Given the description of an element on the screen output the (x, y) to click on. 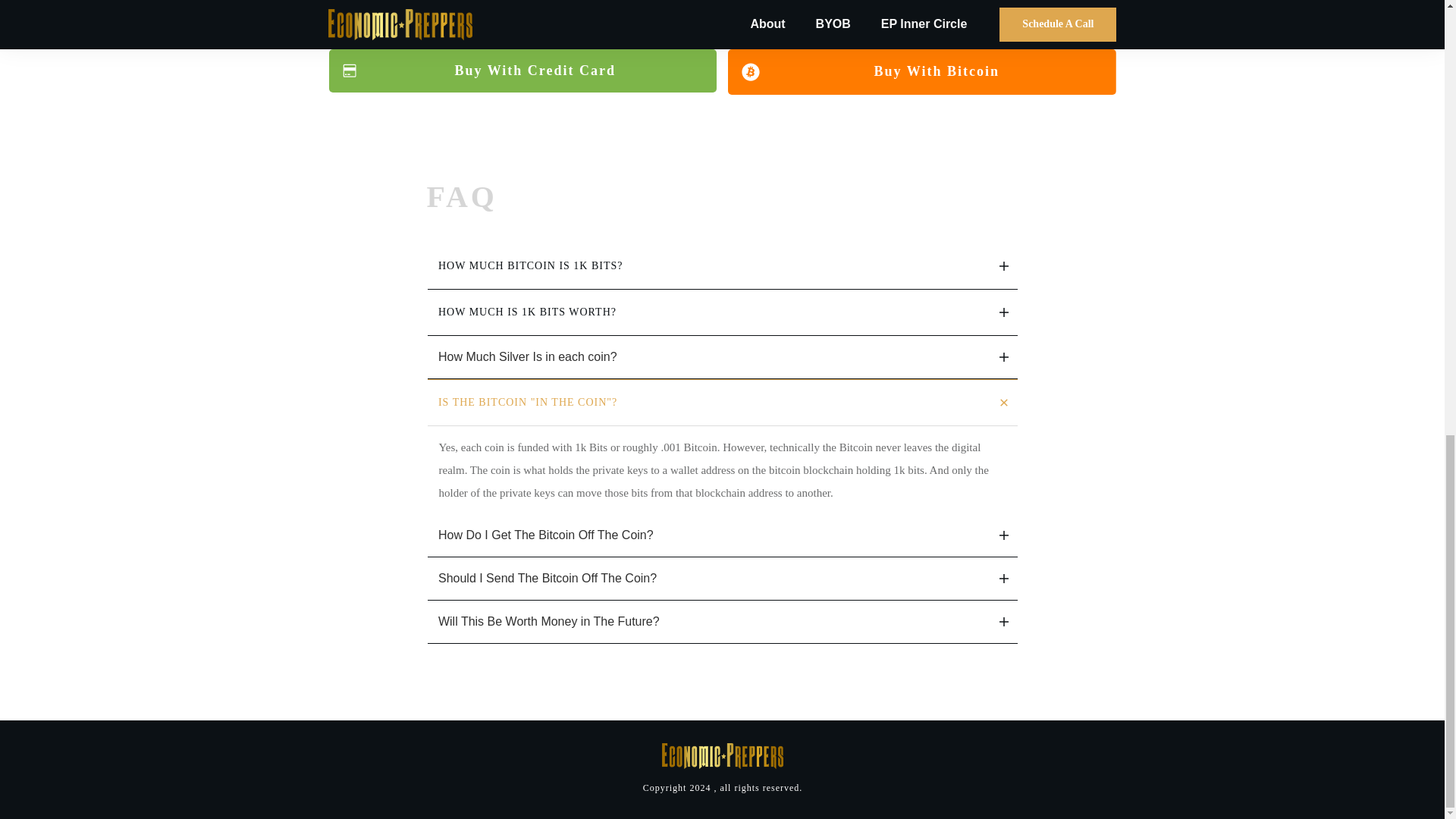
Buy With Bitcoin (922, 72)
Buy With Credit Card (523, 71)
